Given the description of an element on the screen output the (x, y) to click on. 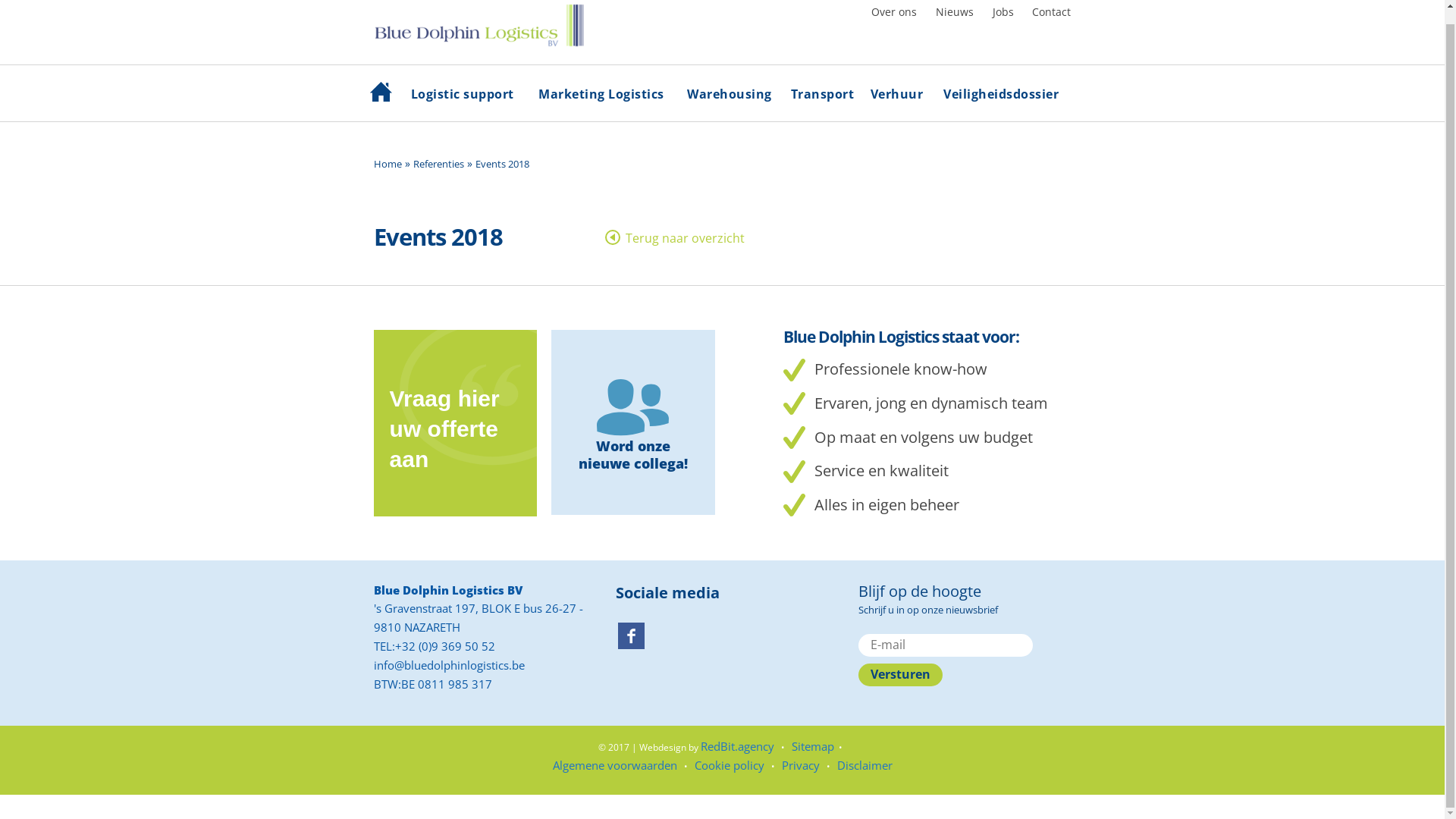
Events 2018 Element type: text (501, 177)
Over ons Element type: text (893, 25)
facebook Element type: text (631, 649)
Transport Element type: text (821, 98)
Sitemap Element type: text (812, 759)
Verhuur Element type: text (896, 98)
Terug naar overzicht Element type: text (674, 246)
Versturen Element type: text (899, 688)
+32 (0)9 369 50 52 Element type: text (444, 659)
Jobs Element type: text (1002, 25)
Home Element type: text (382, 95)
Logistic support Element type: text (462, 98)
Cookie policy Element type: text (729, 778)
Referenties Element type: text (437, 177)
Privacy Element type: text (800, 778)
Veiligheidsdossier Element type: text (1001, 98)
Algemene voorwaarden Element type: text (614, 778)
Contact Element type: text (1051, 25)
Marketing Logistics Element type: text (601, 98)
Home Element type: text (387, 177)
Warehousing Element type: text (729, 98)
Nieuws Element type: text (954, 25)
info@bluedolphinlogistics.be Element type: text (448, 678)
RedBit.agency Element type: text (737, 759)
Disclaimer Element type: text (864, 778)
